Given the description of an element on the screen output the (x, y) to click on. 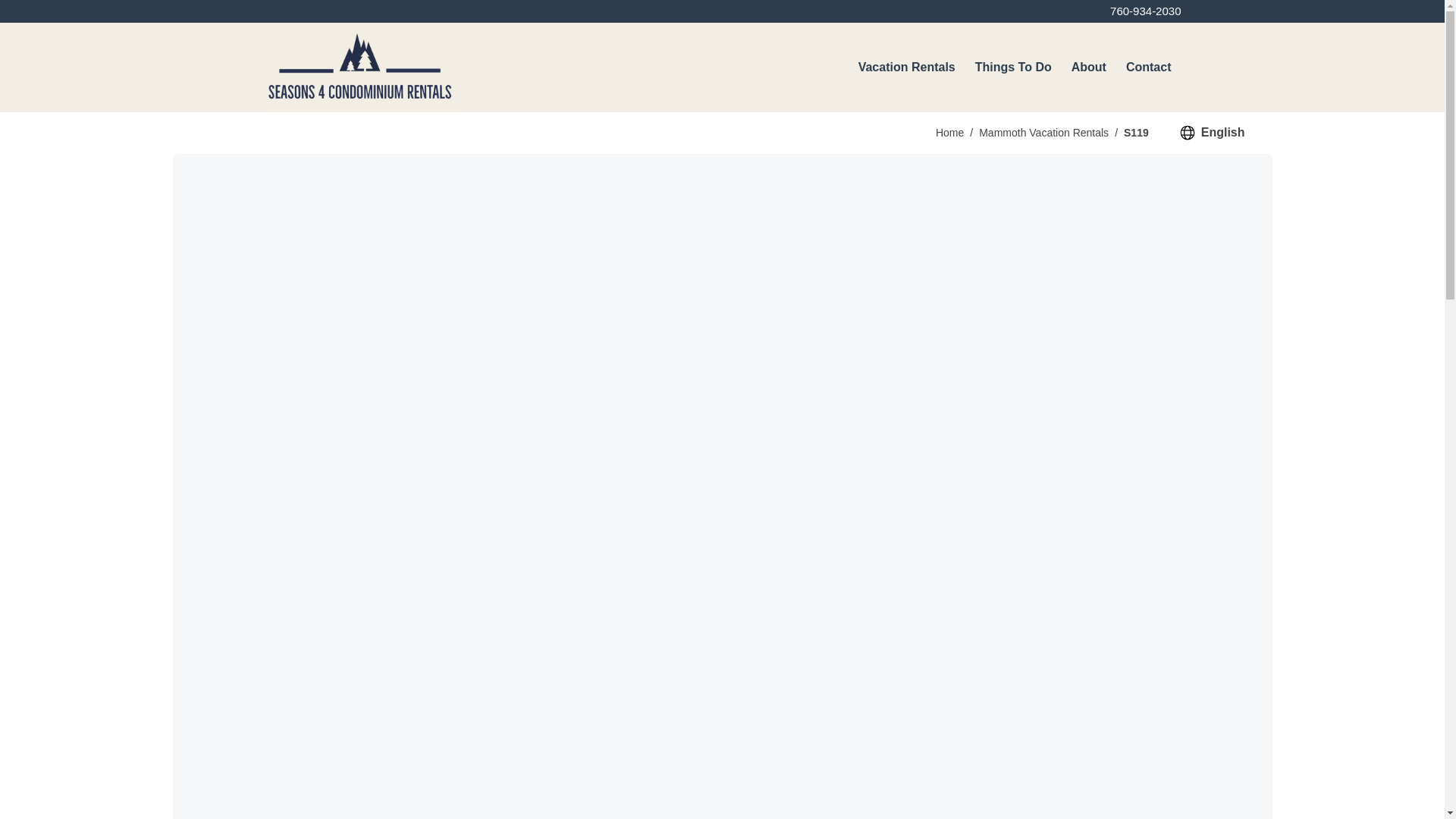
Mammoth Vacation Rentals (1043, 132)
Things To Do (1013, 67)
Home (949, 132)
Vacation Rentals (906, 67)
Seasons 4 Condominium Rentals Logo (359, 67)
English (1212, 132)
